Given the description of an element on the screen output the (x, y) to click on. 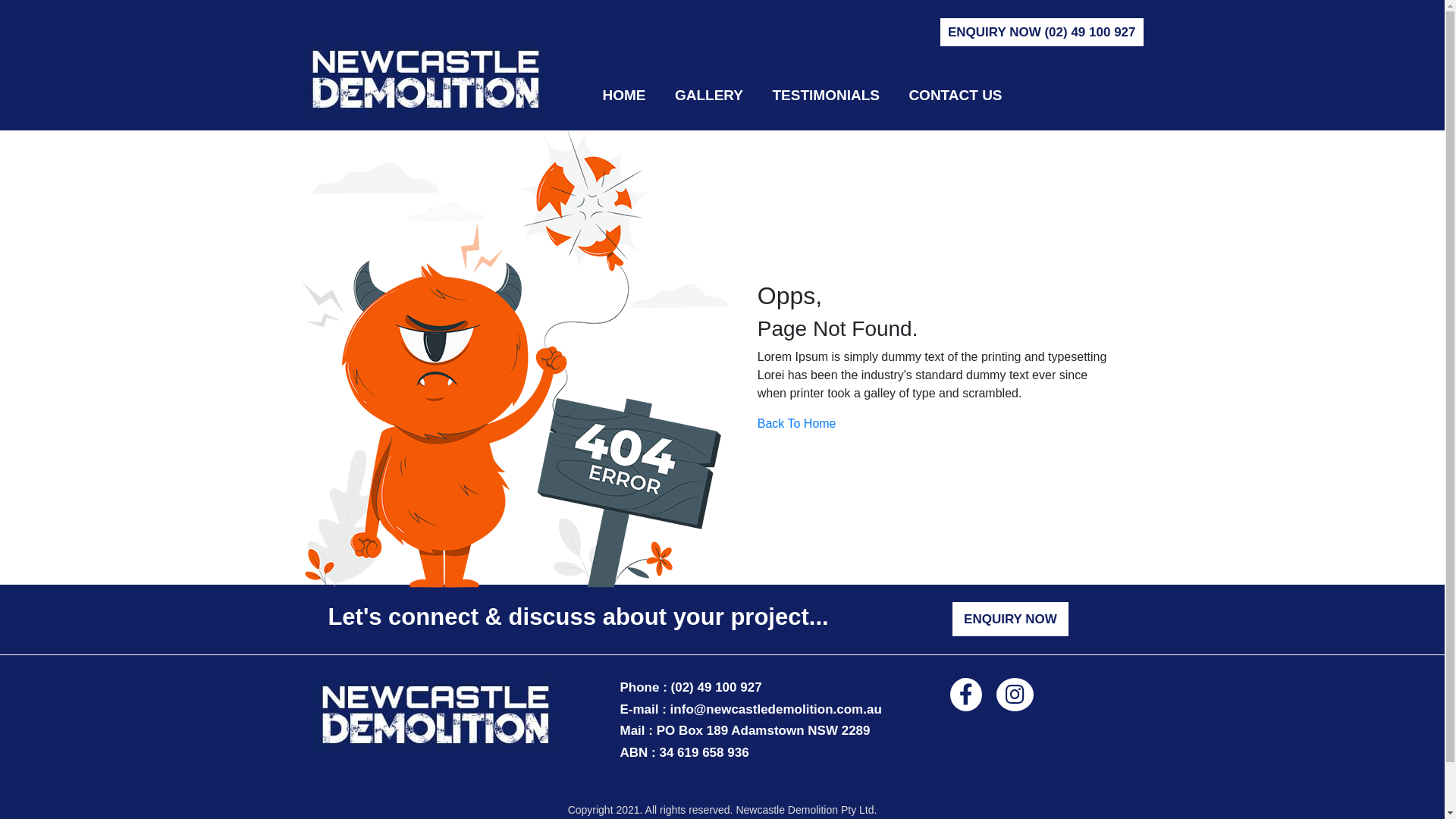
CONTACT US Element type: text (954, 95)
ENQUIRY NOW (02) 49 100 927 Element type: text (1041, 32)
ENQUIRY NOW Element type: text (1010, 619)
Back To Home Element type: text (796, 423)
HOME Element type: text (623, 95)
GALLERY Element type: text (708, 95)
TESTIMONIALS Element type: text (825, 95)
